Given the description of an element on the screen output the (x, y) to click on. 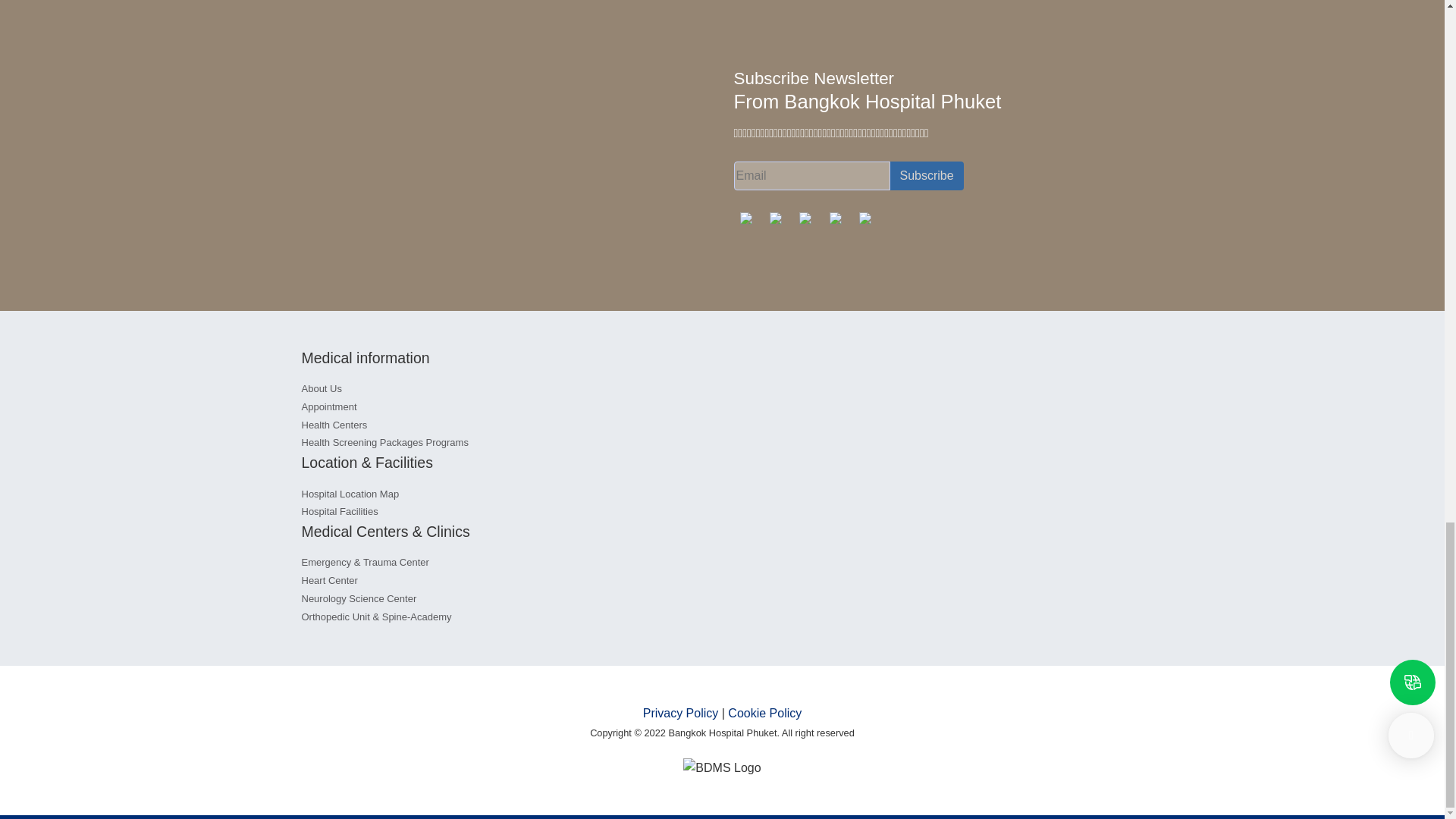
Cookie Policy (765, 712)
Privacy Policy (681, 712)
Subscribe (926, 175)
